Given the description of an element on the screen output the (x, y) to click on. 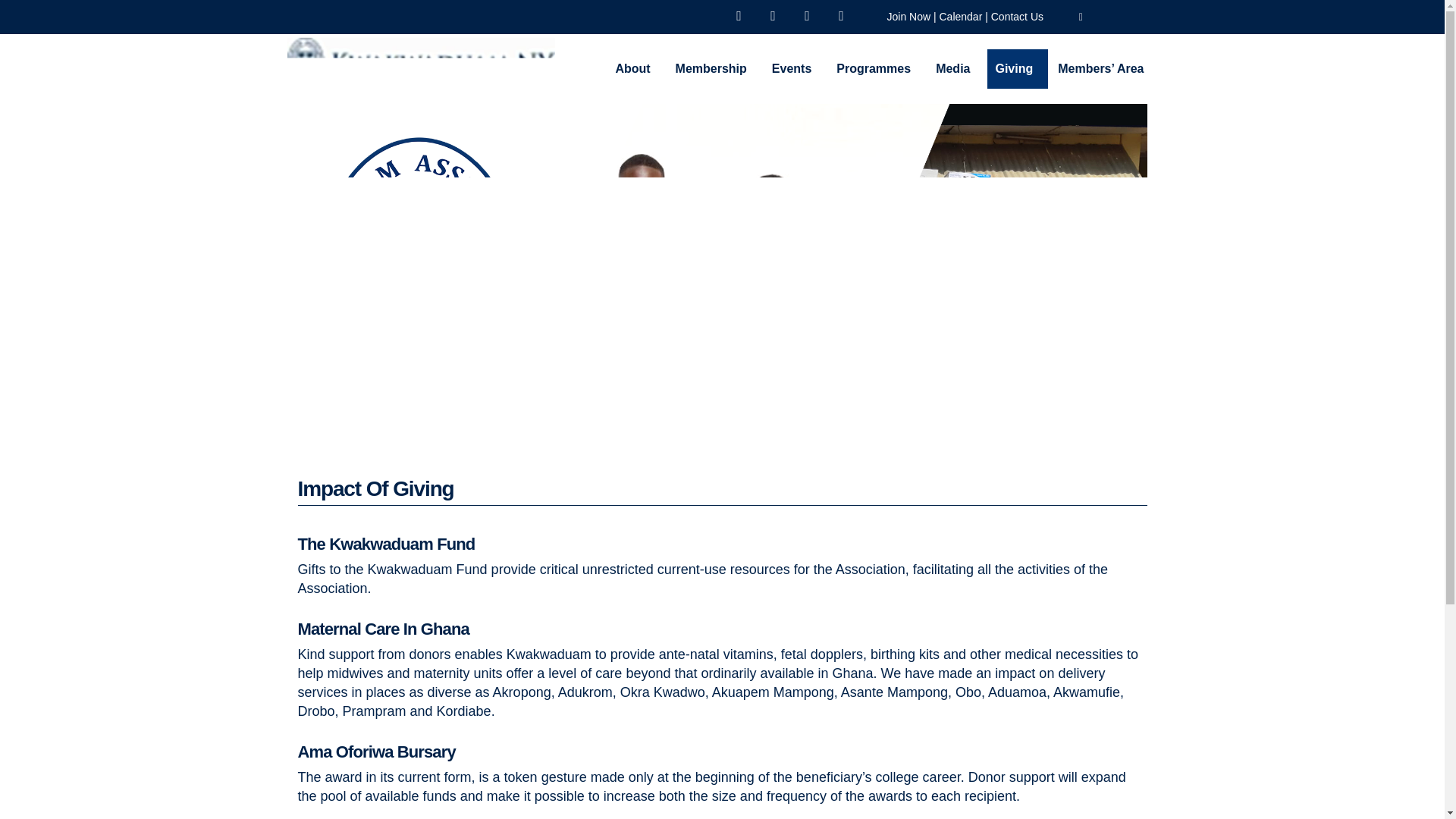
Contact Us (1017, 16)
Instagram (773, 15)
Twitter (806, 15)
Join Now (908, 16)
Youtube (841, 15)
Calendar (960, 16)
Facebook (738, 15)
